Given the description of an element on the screen output the (x, y) to click on. 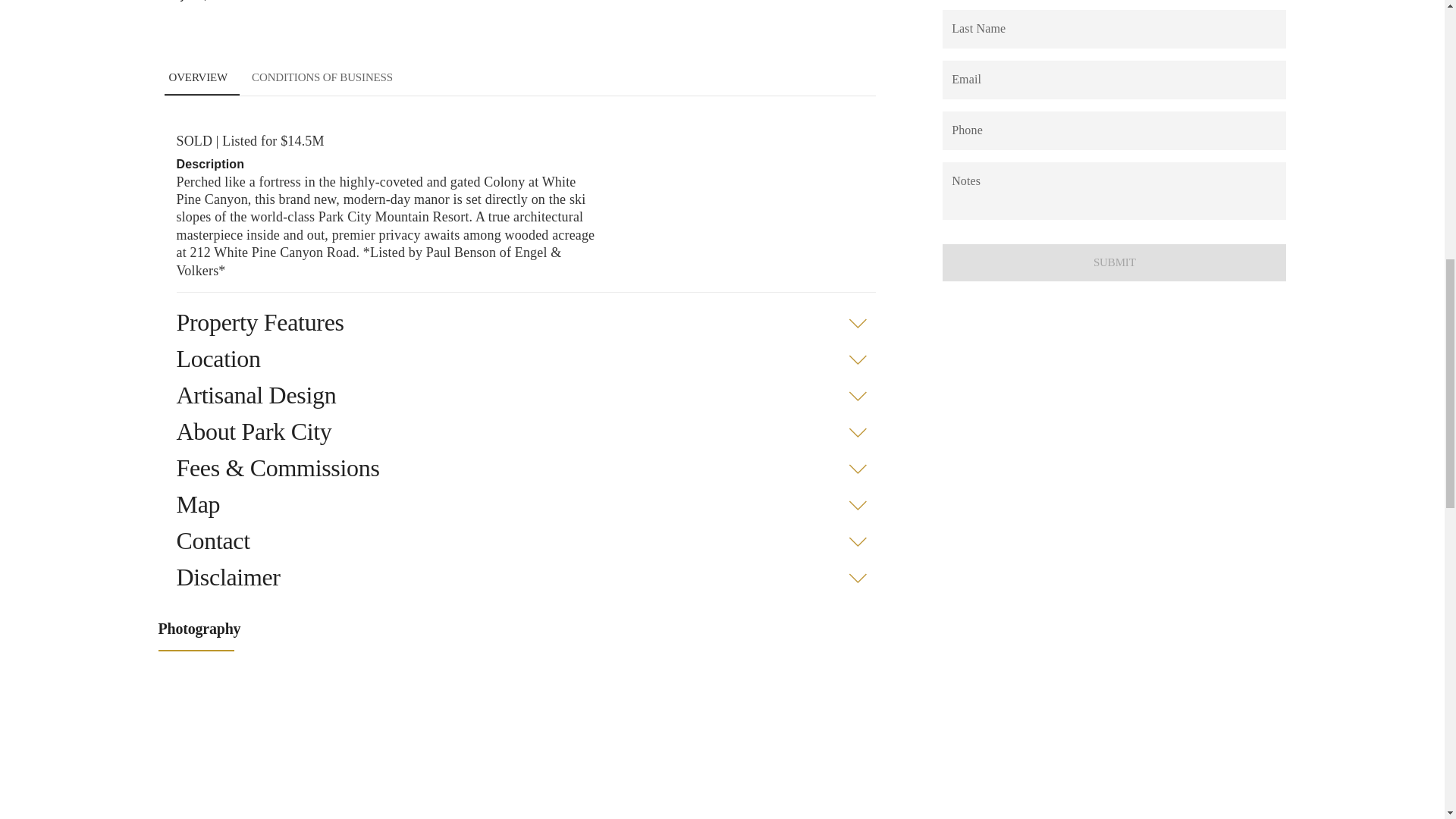
OVERVIEW (197, 76)
CONDITIONS OF BUSINESS (322, 76)
SUBMIT (519, 76)
